Given the description of an element on the screen output the (x, y) to click on. 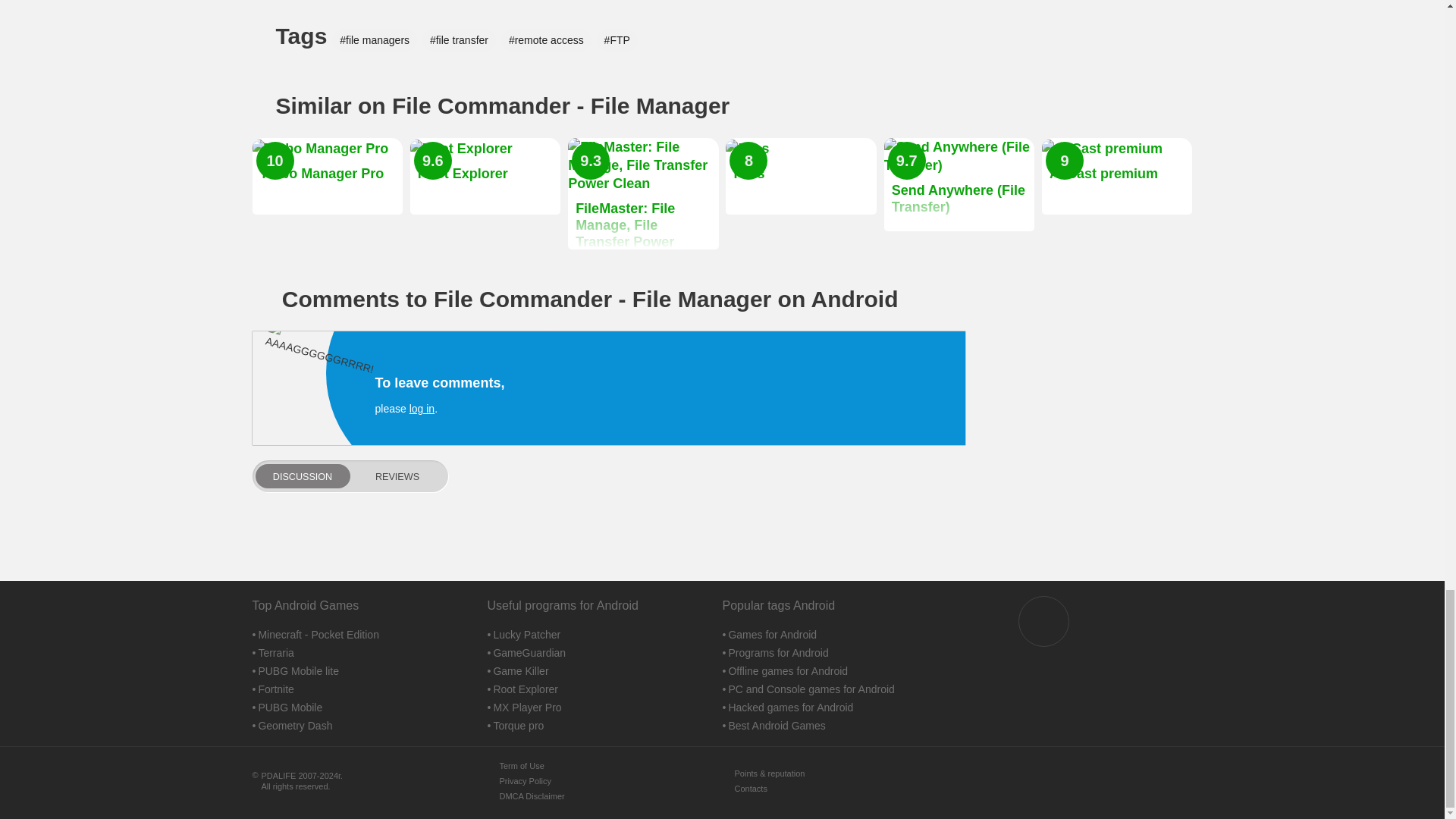
Files (800, 175)
Whatsapp (1042, 621)
FileMaster: File Manage, File Transfer Power Clean (642, 193)
AllCast premium (1117, 175)
Turbo Manager Pro (326, 175)
Root Explorer (485, 175)
